Given the description of an element on the screen output the (x, y) to click on. 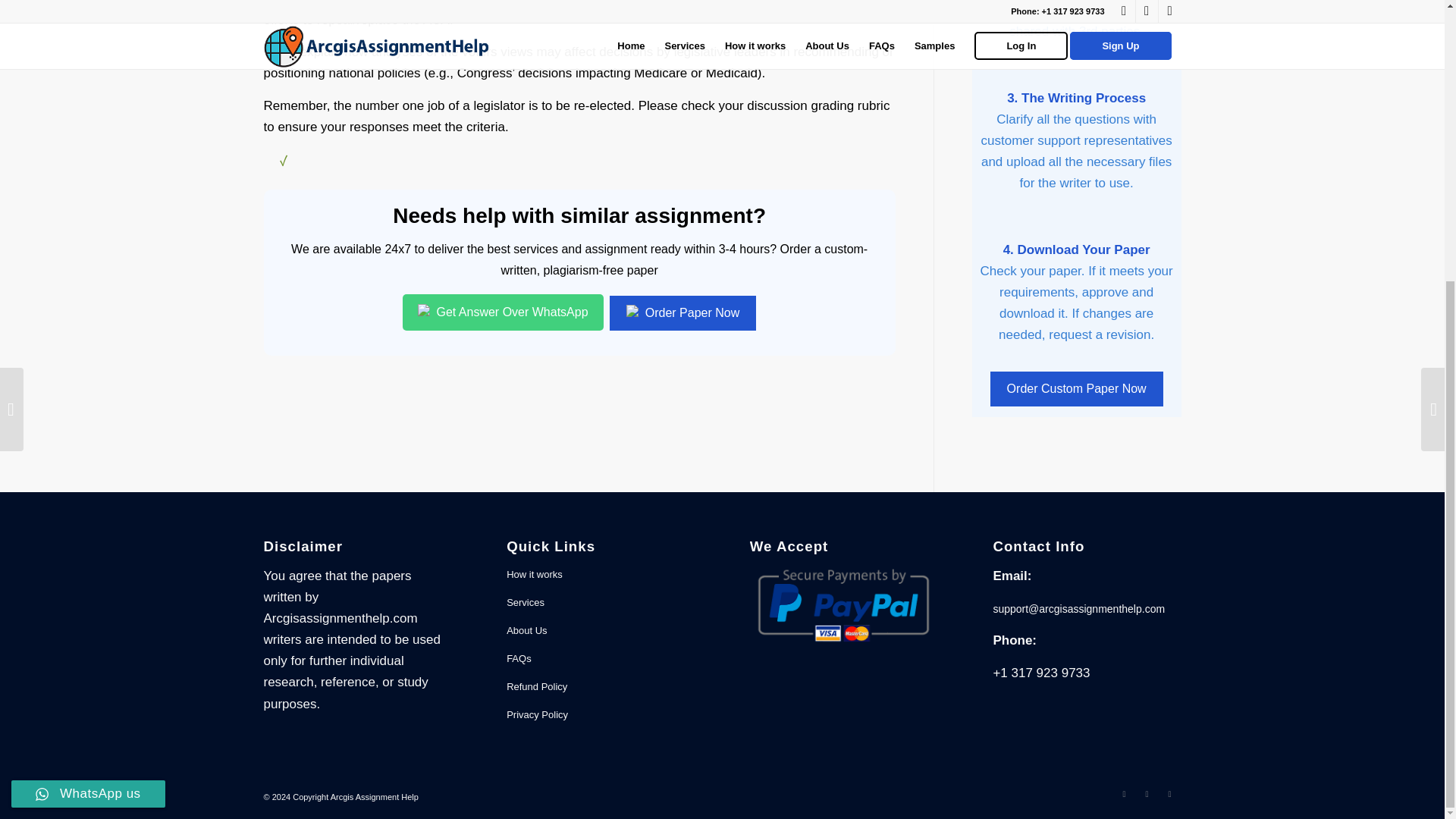
Order Paper Now (682, 312)
About Us (600, 631)
Facebook (1124, 793)
Get Answer Over WhatsApp (503, 312)
Privacy Policy (600, 715)
Services (600, 602)
Pinterest (1169, 793)
How it works (600, 574)
Refund Policy (600, 687)
Order Custom Paper Now (1076, 388)
FAQs (600, 659)
Twitter (1146, 793)
